Given the description of an element on the screen output the (x, y) to click on. 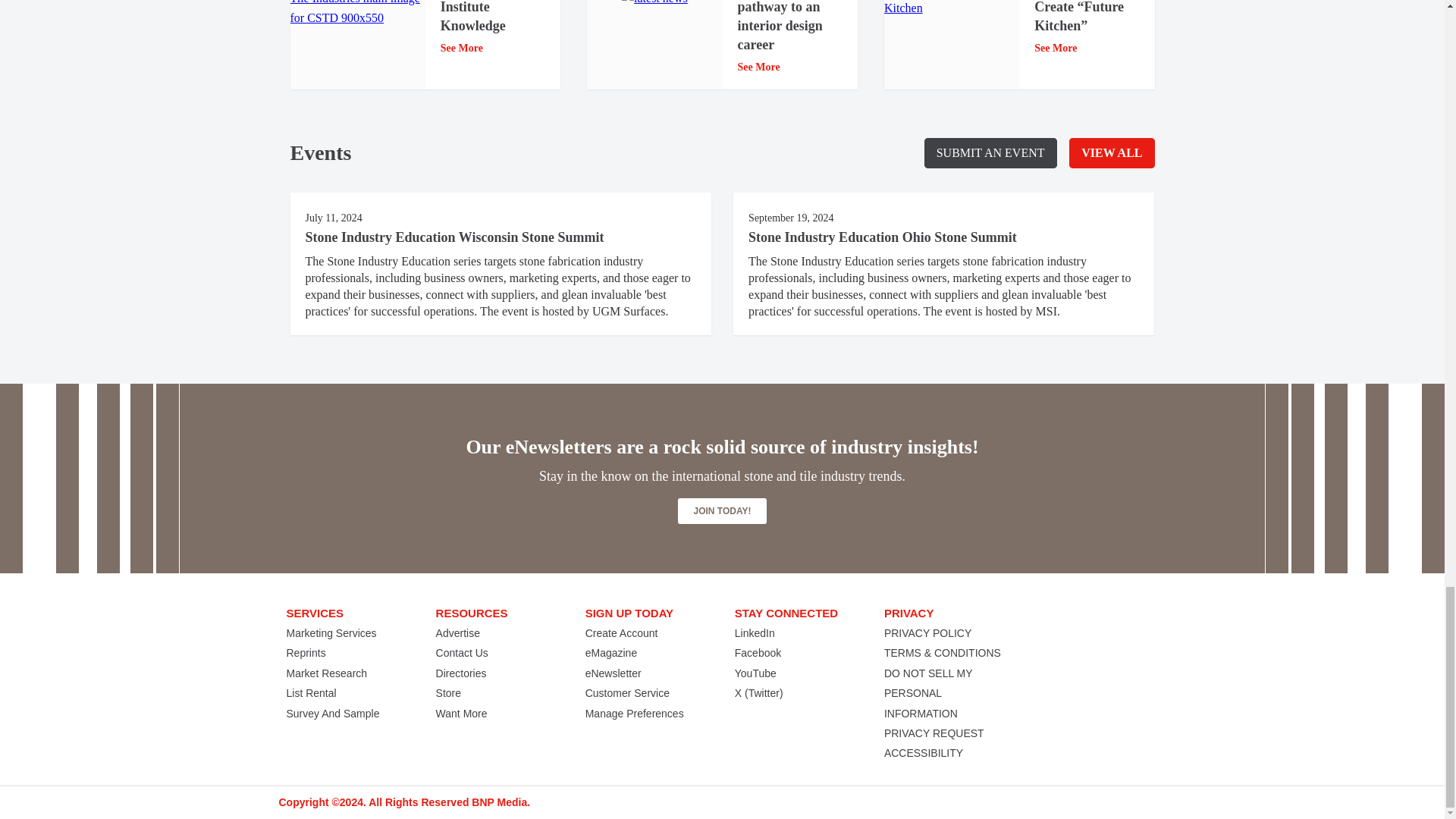
Cesarstone-Pratt-Institute.jpg (951, 9)
CSTD News (357, 13)
